Given the description of an element on the screen output the (x, y) to click on. 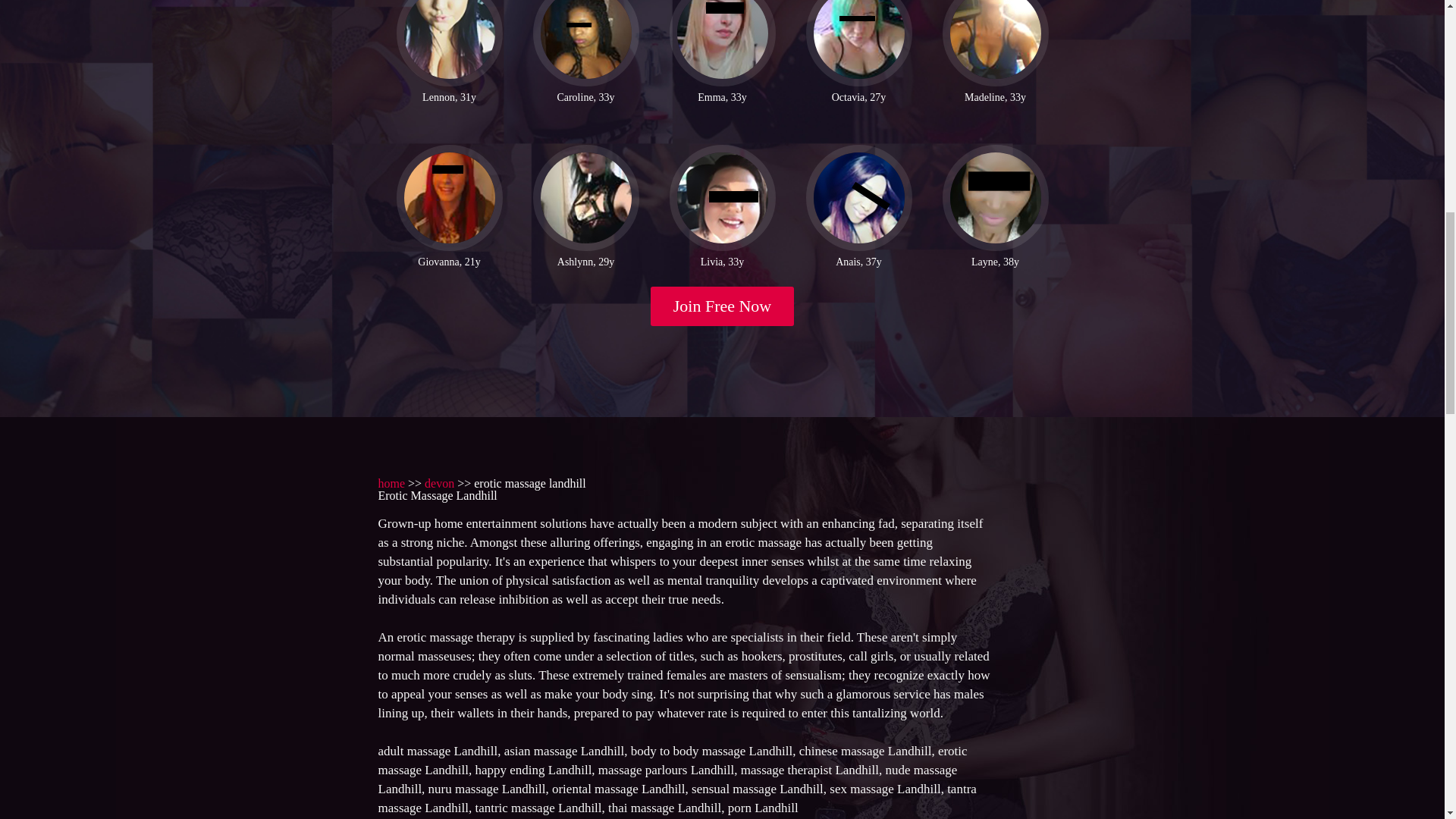
Join (722, 305)
devon (439, 482)
home (390, 482)
Join Free Now (722, 305)
